Given the description of an element on the screen output the (x, y) to click on. 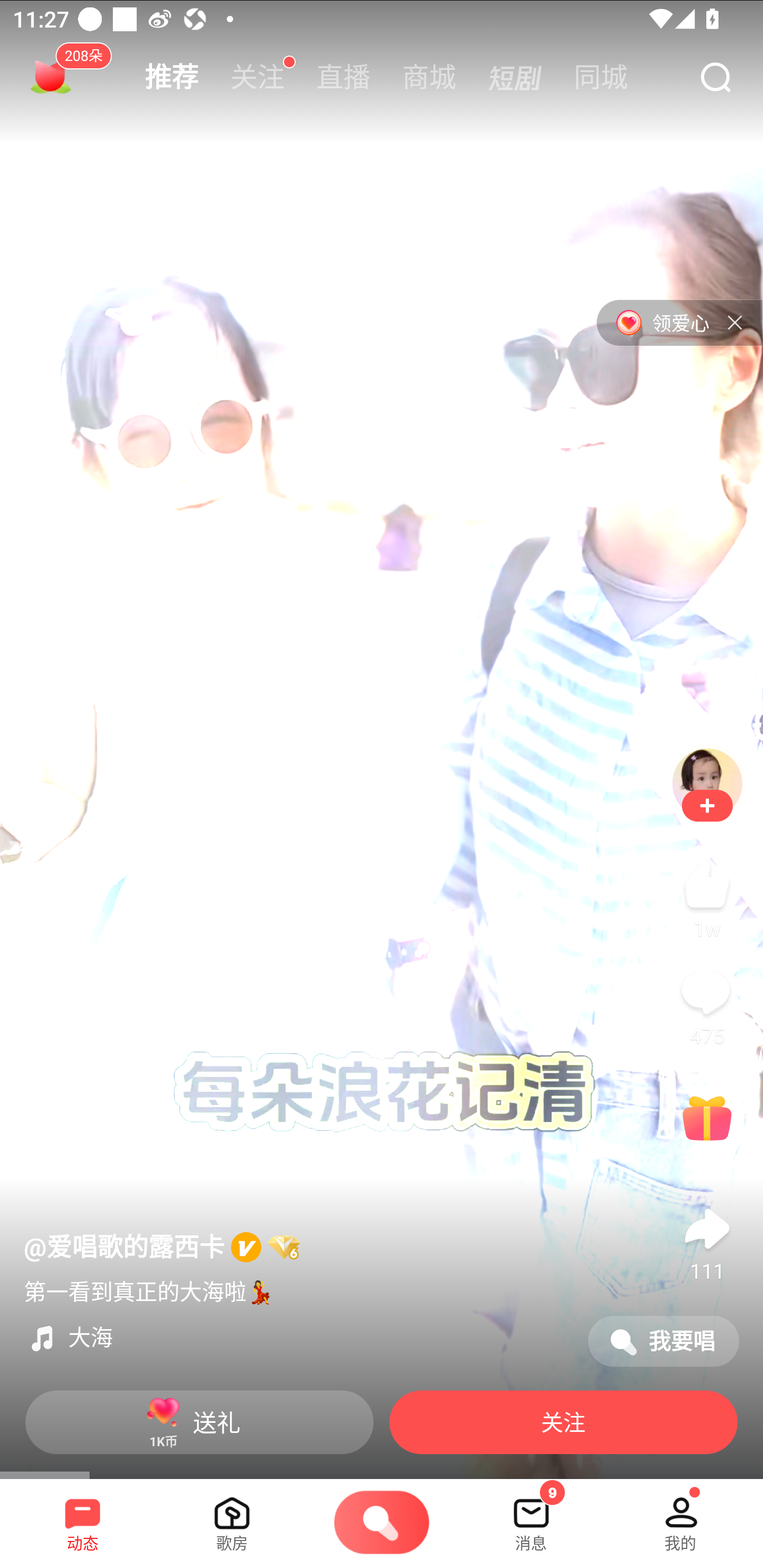
推荐 (171, 77)
关注 (257, 77)
直播 (343, 77)
商城 (429, 77)
同城 (600, 77)
任务中心 (50, 77)
搜索 (714, 78)
头像 (707, 782)
关注 (706, 805)
点赞10521 1w (706, 896)
评论475 475 (706, 1003)
送礼16.4w 16.4w (706, 1131)
分享111 111 (706, 1240)
@爱唱歌的露西卡    (161, 1246)
第一看到真正的大海啦💃 (148, 1289)
大海 (297, 1338)
我要唱 (663, 1341)
1K币 送礼 (199, 1421)
关注 (563, 1421)
已选中动态 (82, 1516)
未选中歌房 (231, 1516)
未选中录歌 (381, 1523)
未选中消息 (530, 1516)
未选中我的 (680, 1516)
